Given the description of an element on the screen output the (x, y) to click on. 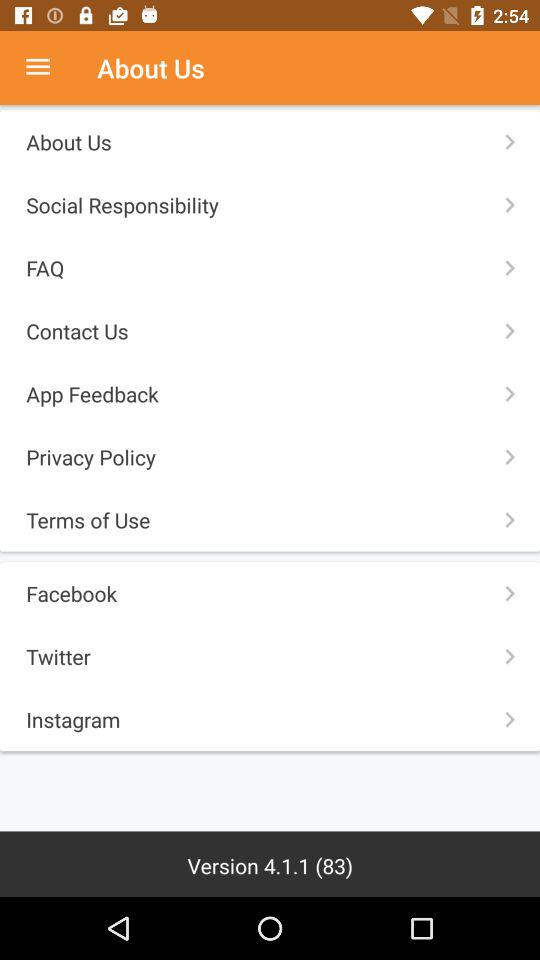
more options (48, 67)
